Given the description of an element on the screen output the (x, y) to click on. 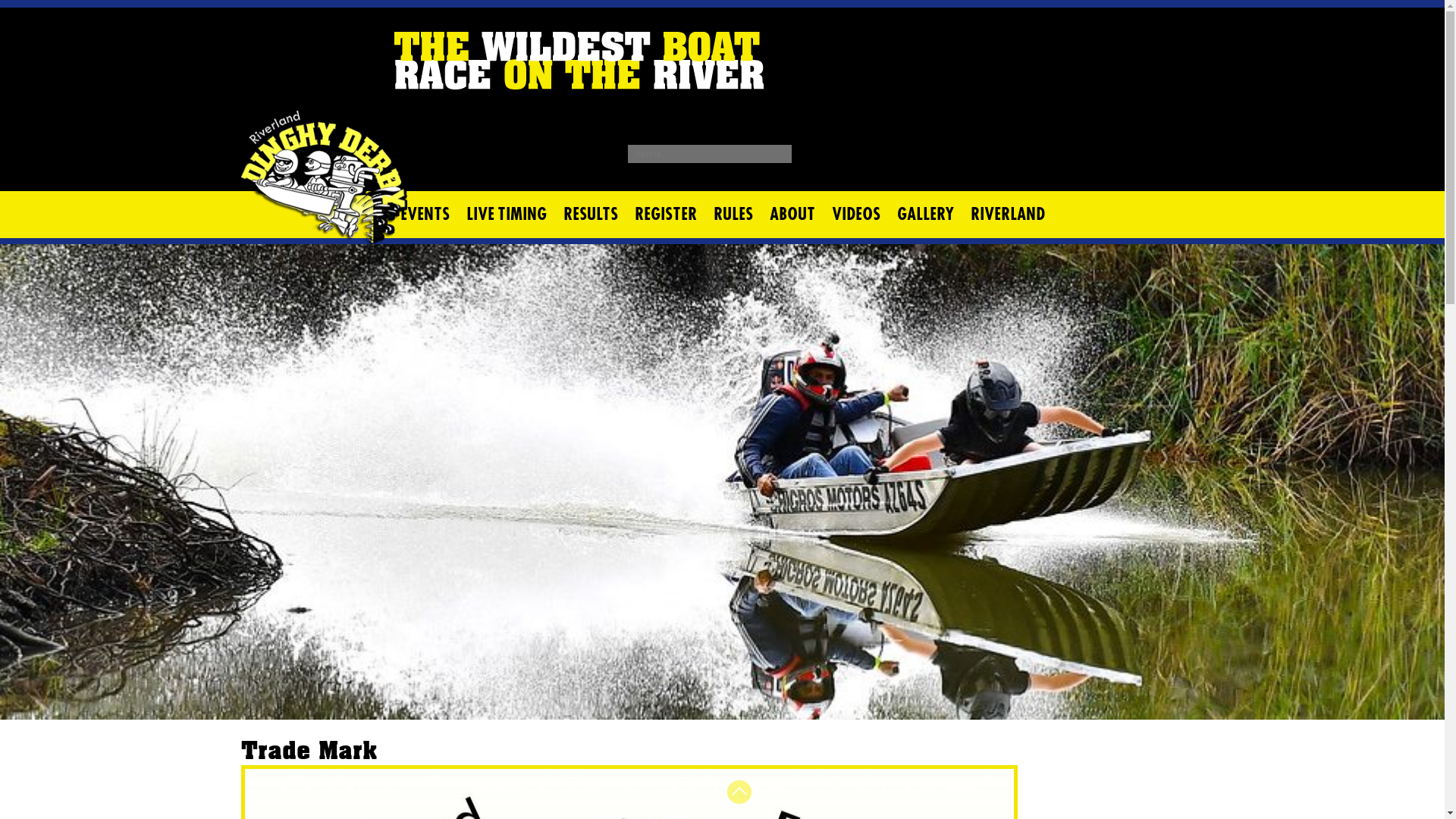
GALLERY Element type: text (925, 214)
RULES Element type: text (732, 214)
VIDEOS Element type: text (856, 214)
RESULTS Element type: text (590, 214)
RIVERLAND Element type: text (1007, 214)
ABOUT Element type: text (792, 214)
LIVE TIMING Element type: text (506, 214)
REGISTER Element type: text (665, 214)
EVENTS Element type: text (423, 214)
